Given the description of an element on the screen output the (x, y) to click on. 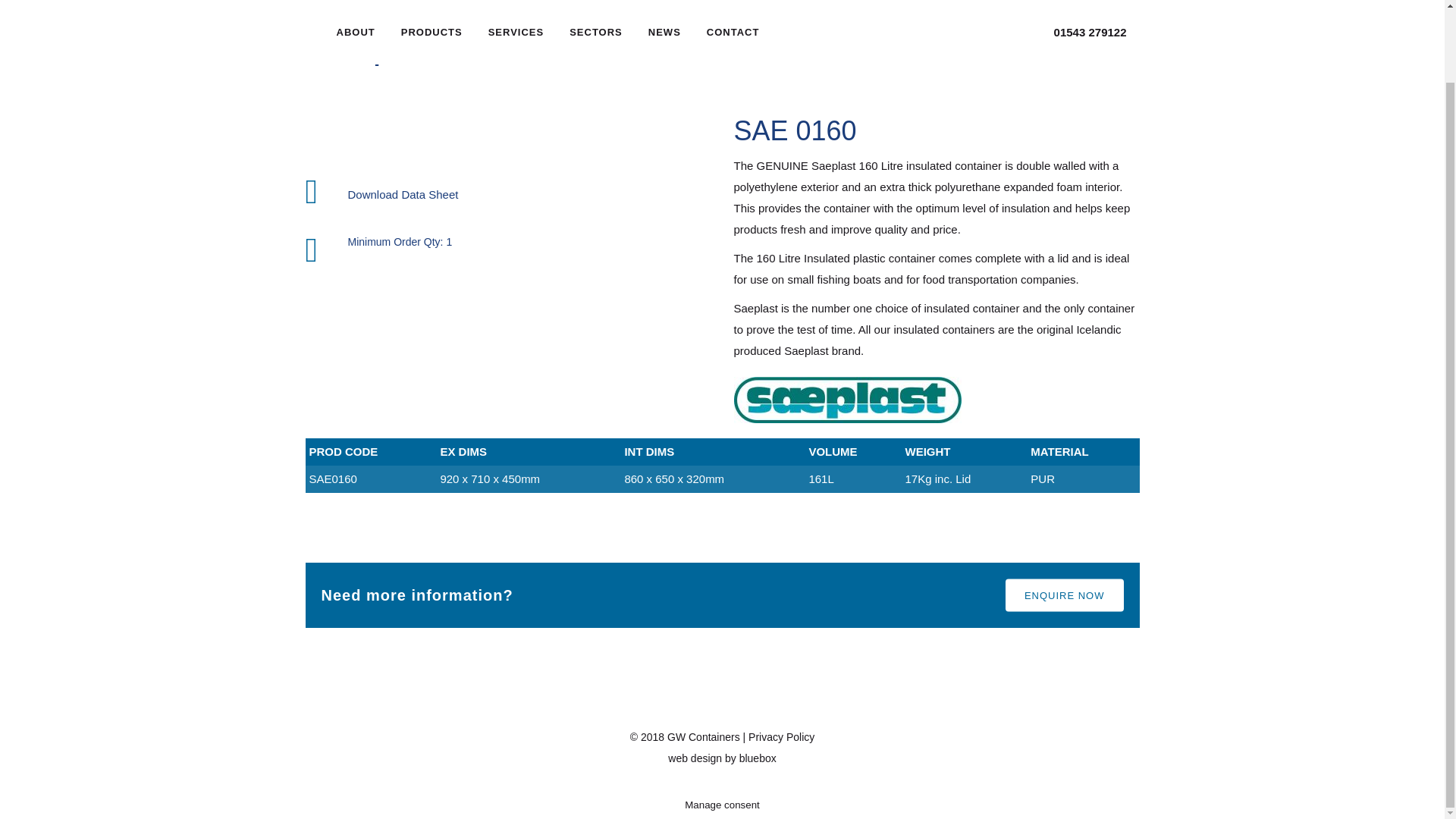
Privacy Policy (780, 736)
Download Data Sheet (402, 194)
ENQUIRE NOW (1065, 595)
web design by bluebox (722, 758)
